Given the description of an element on the screen output the (x, y) to click on. 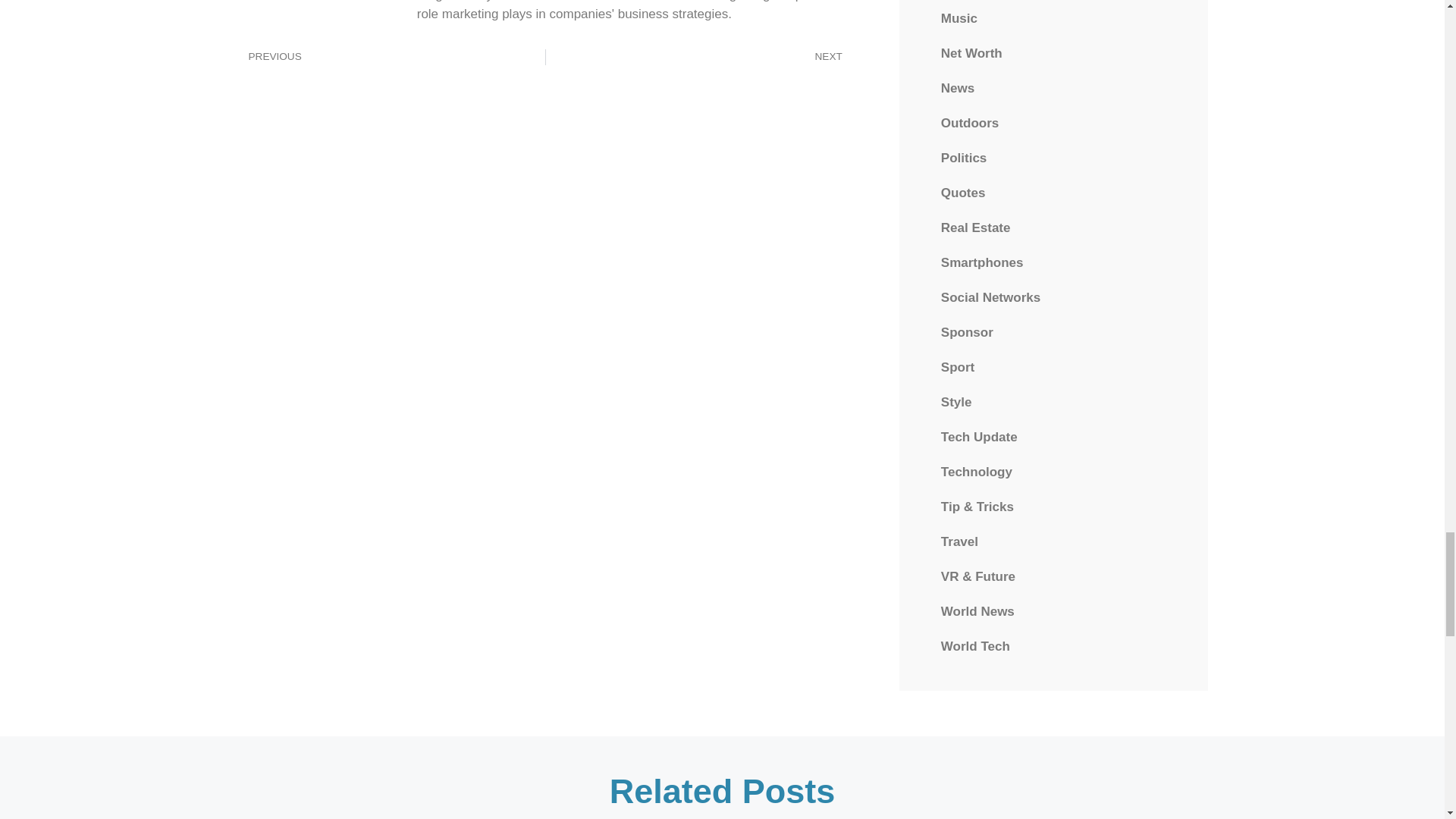
PREVIOUS (389, 56)
NEXT (699, 56)
